Given the description of an element on the screen output the (x, y) to click on. 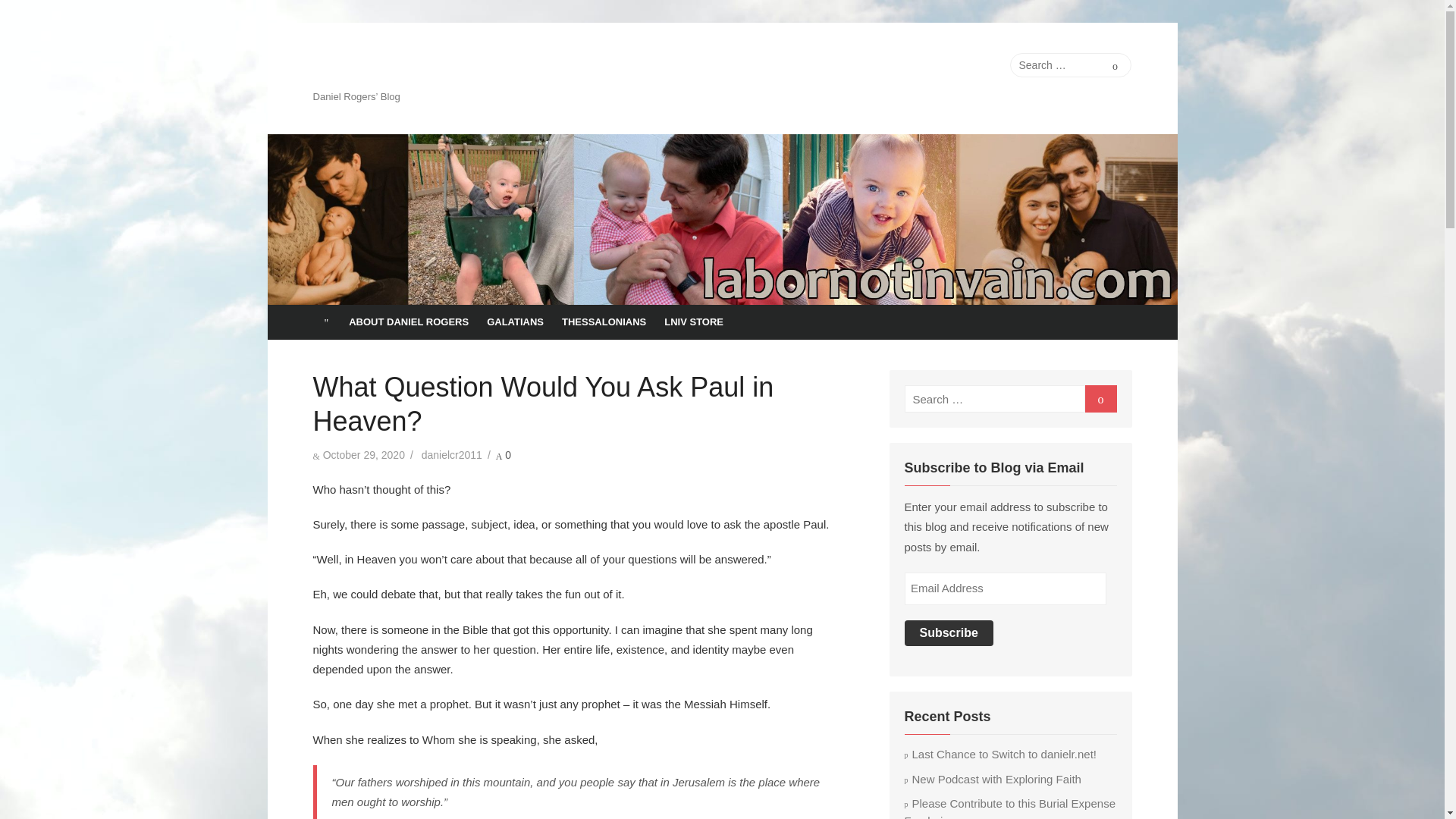
THESSALONIANS (604, 321)
Search (1114, 65)
0 (503, 454)
Posts (934, 64)
Contact (981, 64)
GALATIANS (515, 321)
ABOUT DANIEL ROGERS (408, 321)
Labor Not in Vain (406, 67)
